Given the description of an element on the screen output the (x, y) to click on. 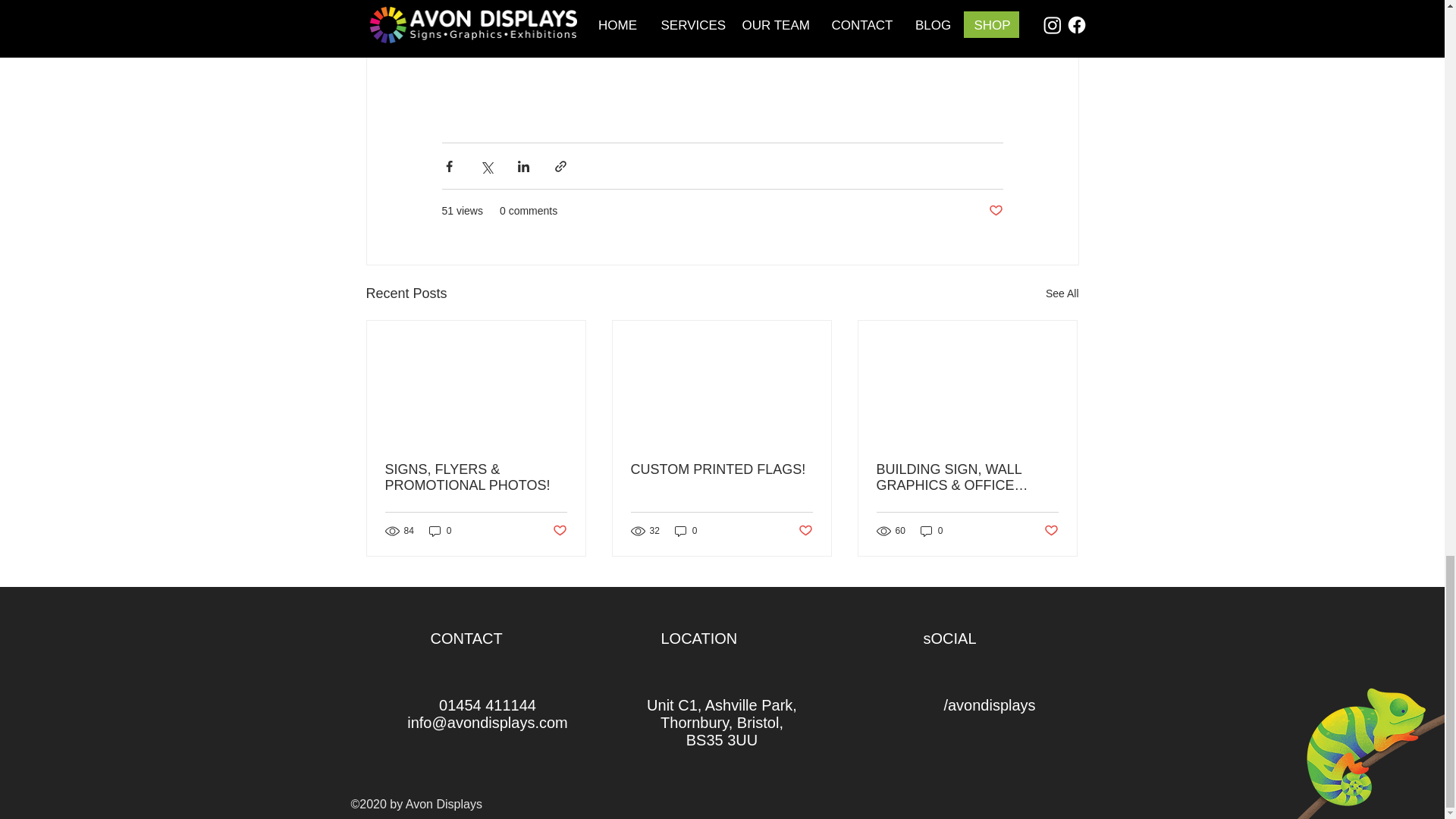
0 (685, 531)
0 (931, 531)
0 (440, 531)
Post not marked as liked (995, 211)
Post not marked as liked (558, 530)
Post not marked as liked (1050, 530)
Post not marked as liked (804, 530)
CUSTOM PRINTED FLAGS! (721, 469)
See All (1061, 293)
